Given the description of an element on the screen output the (x, y) to click on. 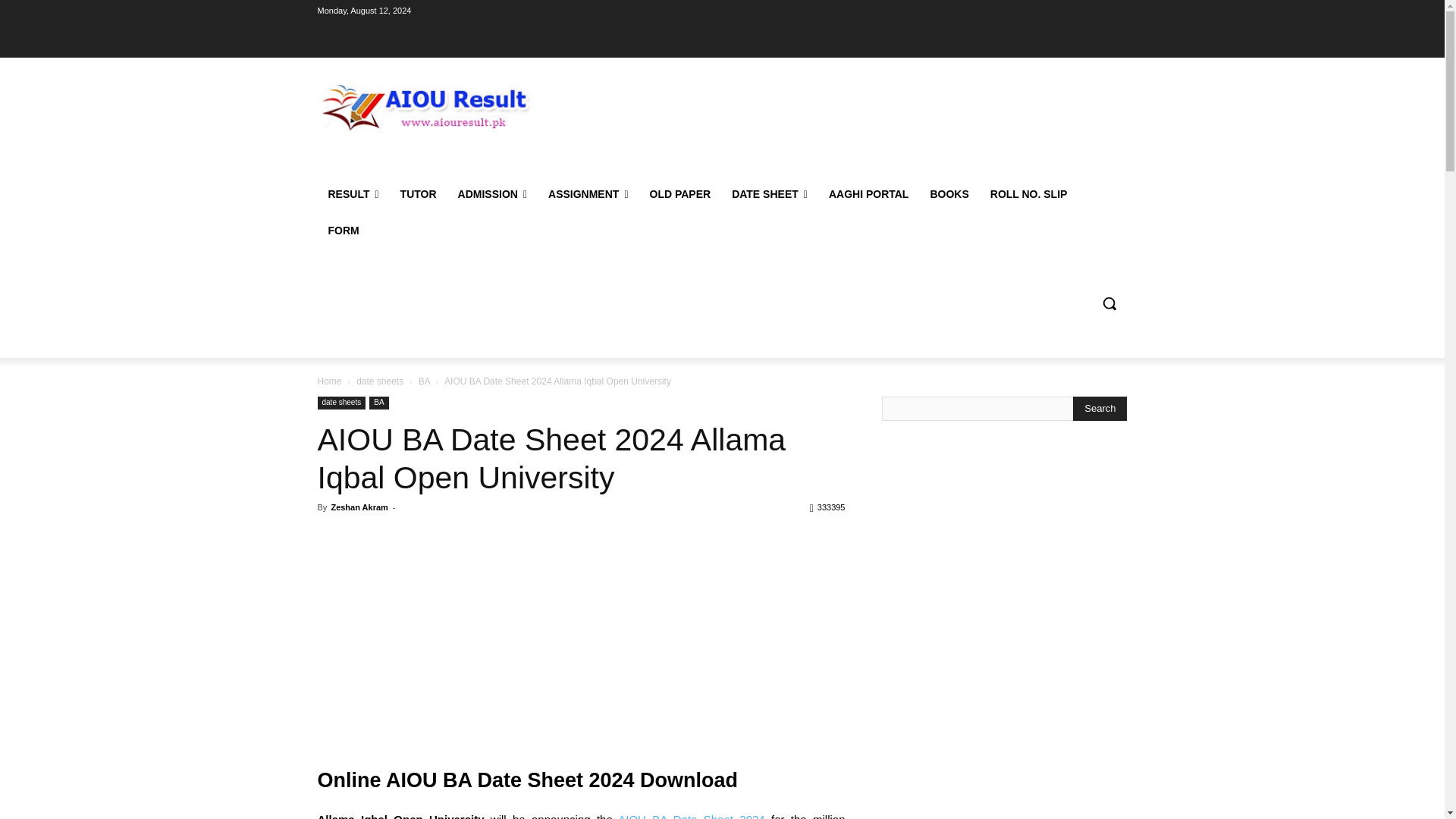
Advertisement (580, 636)
AAGHI PORTAL (869, 194)
AIOU BA Date Sheet 2024 (690, 816)
TUTOR (418, 194)
ADMISSION (491, 194)
View all posts in BA (424, 380)
DATE SHEET (769, 194)
AIOU Result .pk (425, 105)
ASSIGNMENT (588, 194)
OLD PAPER (679, 194)
